Given the description of an element on the screen output the (x, y) to click on. 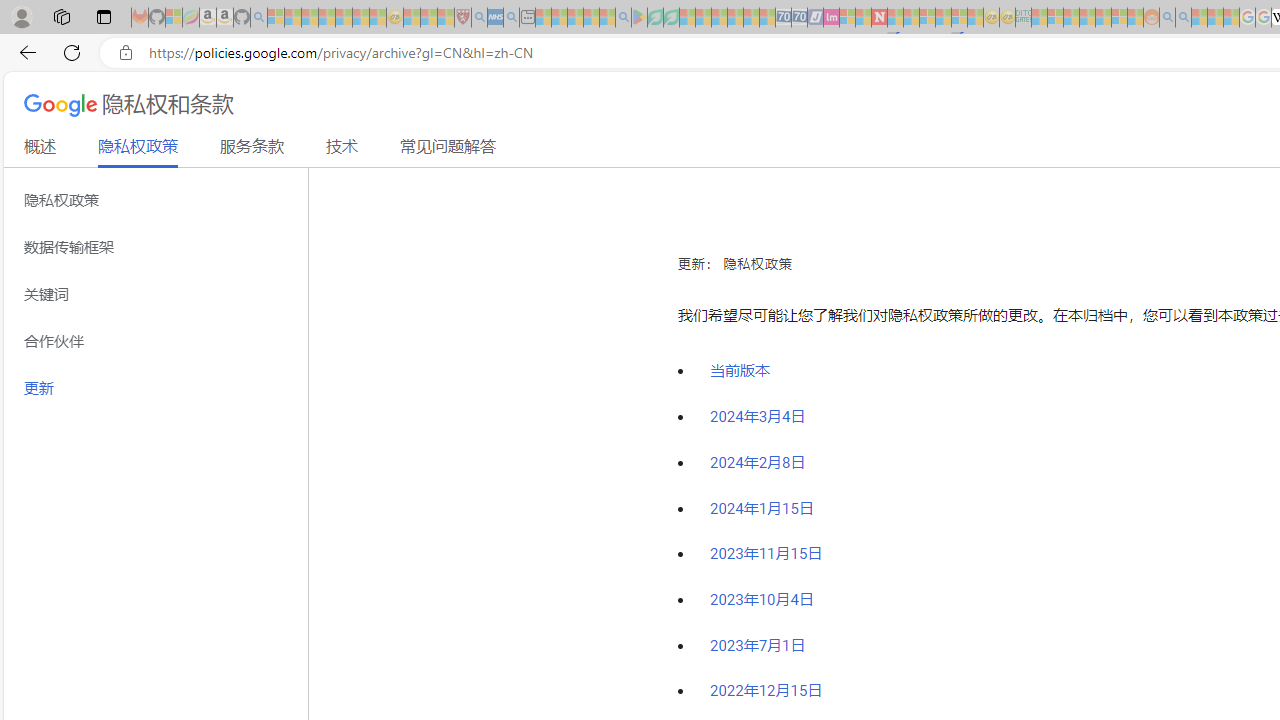
Kinda Frugal - MSN - Sleeping (1103, 17)
Jobs - lastminute.com Investor Portal - Sleeping (831, 17)
MSNBC - MSN - Sleeping (1039, 17)
Trusted Community Engagement and Contributions | Guidelines (895, 17)
Microsoft Start - Sleeping (1199, 17)
